Given the description of an element on the screen output the (x, y) to click on. 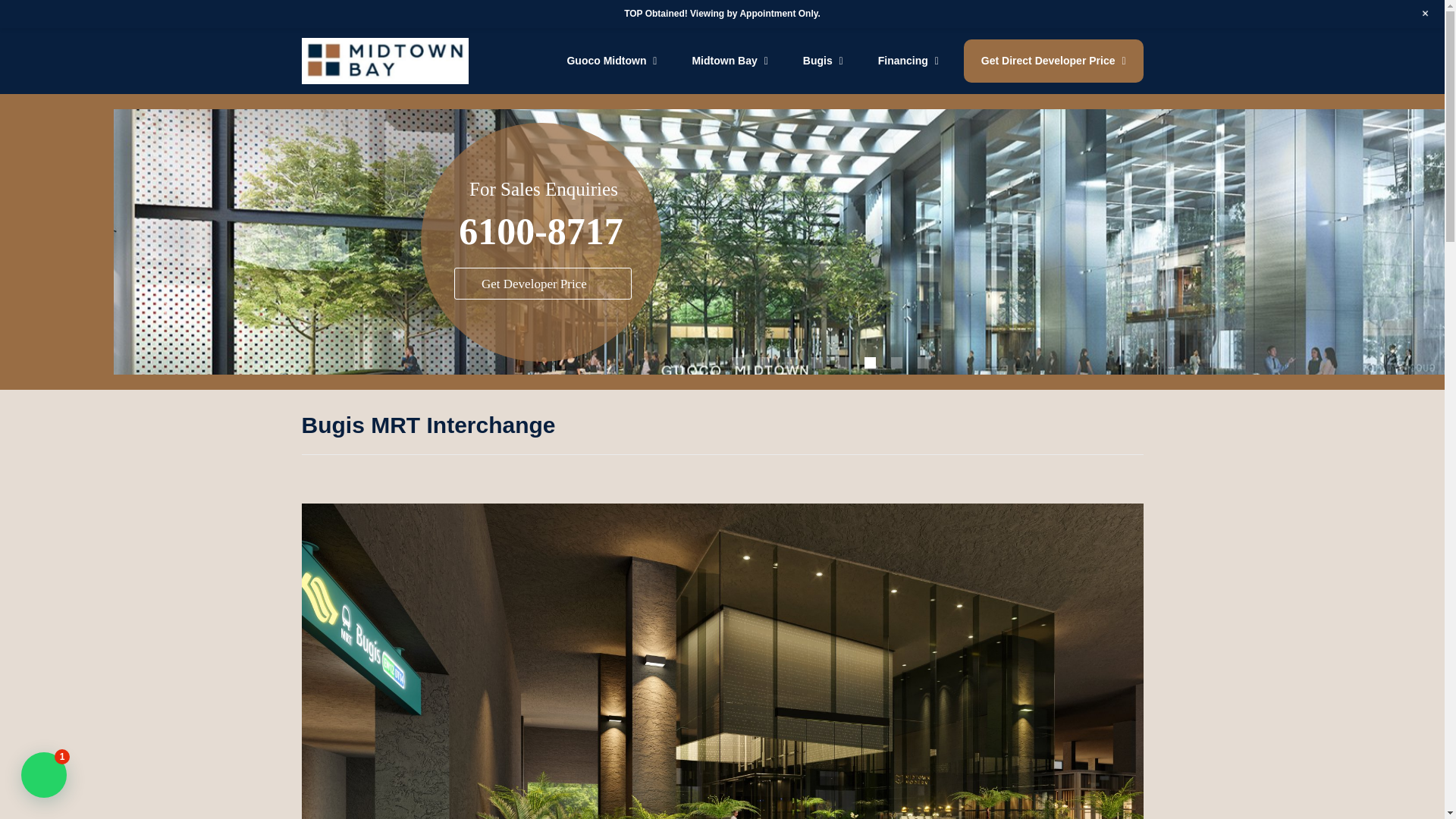
Financing (908, 60)
Bugis (823, 60)
Guoco Midtown (611, 60)
Bugis (823, 60)
Midtown Bay (729, 60)
Midtown Bay (729, 60)
Guoco Midtown (611, 60)
Get Direct Developer Price (1052, 60)
